Given the description of an element on the screen output the (x, y) to click on. 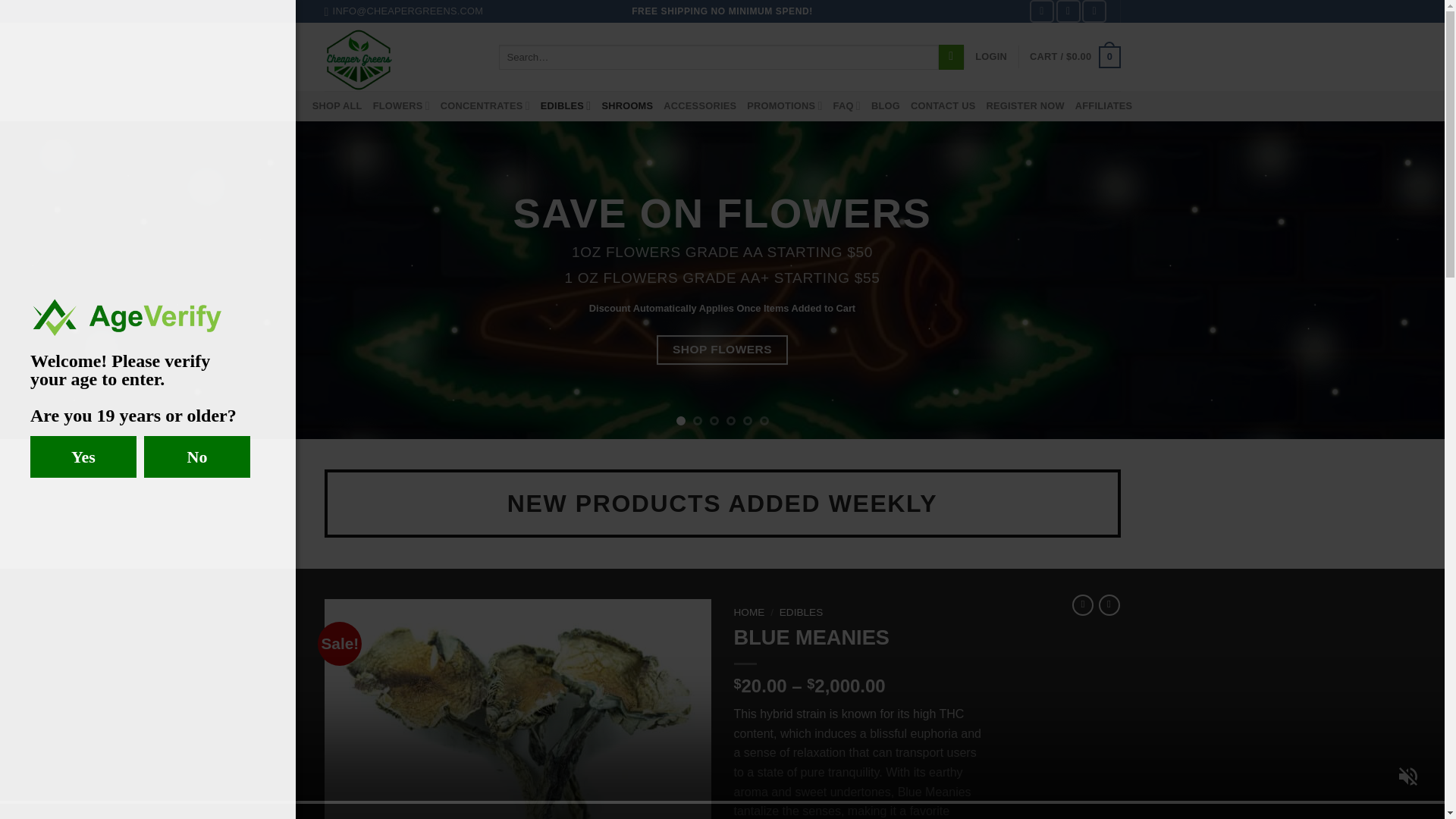
SHROOMS (626, 105)
Yes (83, 456)
Cart (1074, 57)
Follow on Facebook (1041, 11)
Follow on Instagram (1068, 11)
Search (951, 57)
Cheaper Greens - Best Online Canna Store (400, 56)
Send us an email (1093, 11)
EDIBLES (565, 105)
CONCENTRATES (485, 105)
